Given the description of an element on the screen output the (x, y) to click on. 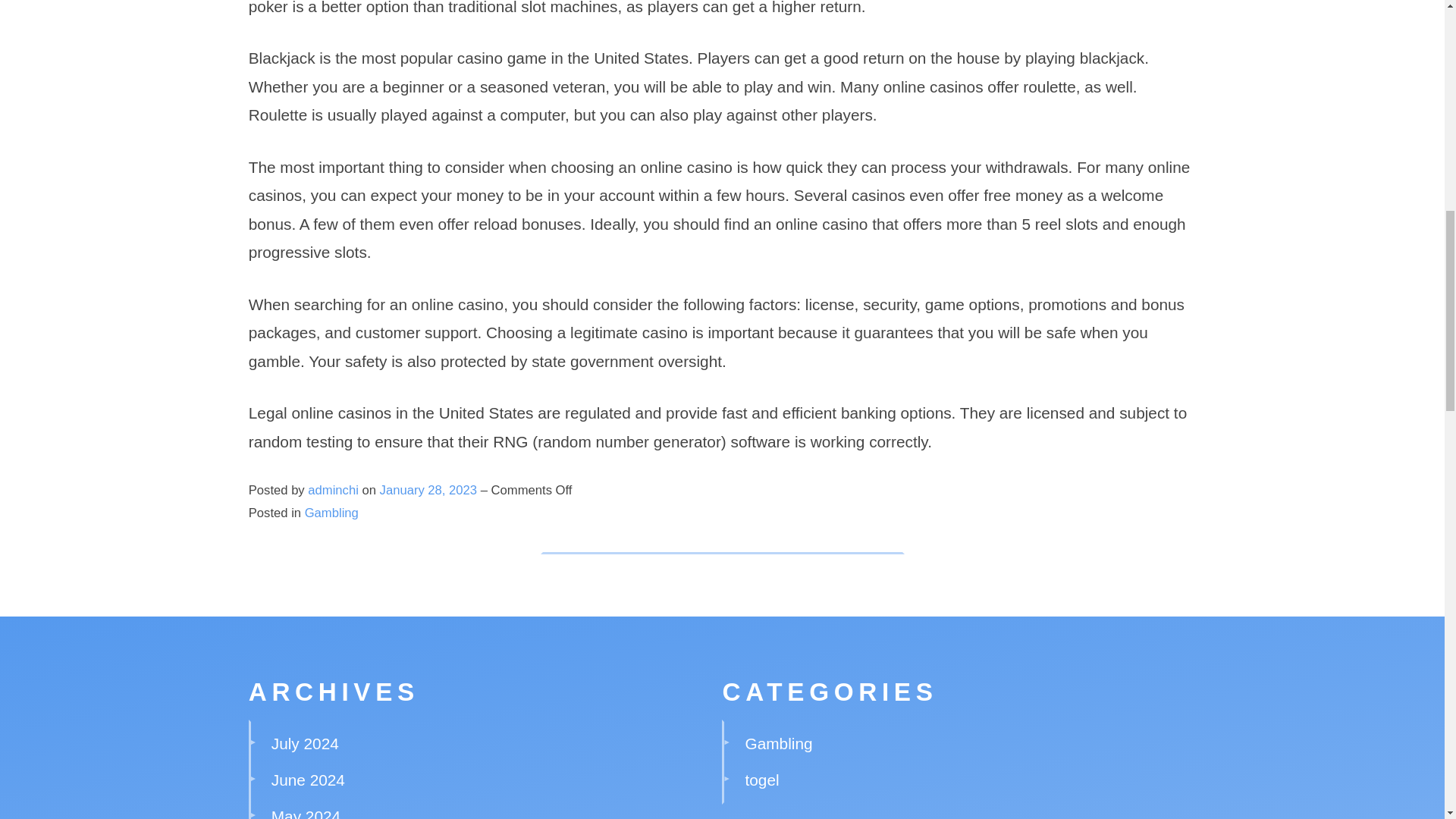
January 28, 2023 (430, 490)
July 2024 (304, 743)
Gambling (778, 743)
adminchi (332, 490)
May 2024 (305, 813)
June 2024 (307, 779)
Gambling (331, 513)
togel (761, 779)
